Given the description of an element on the screen output the (x, y) to click on. 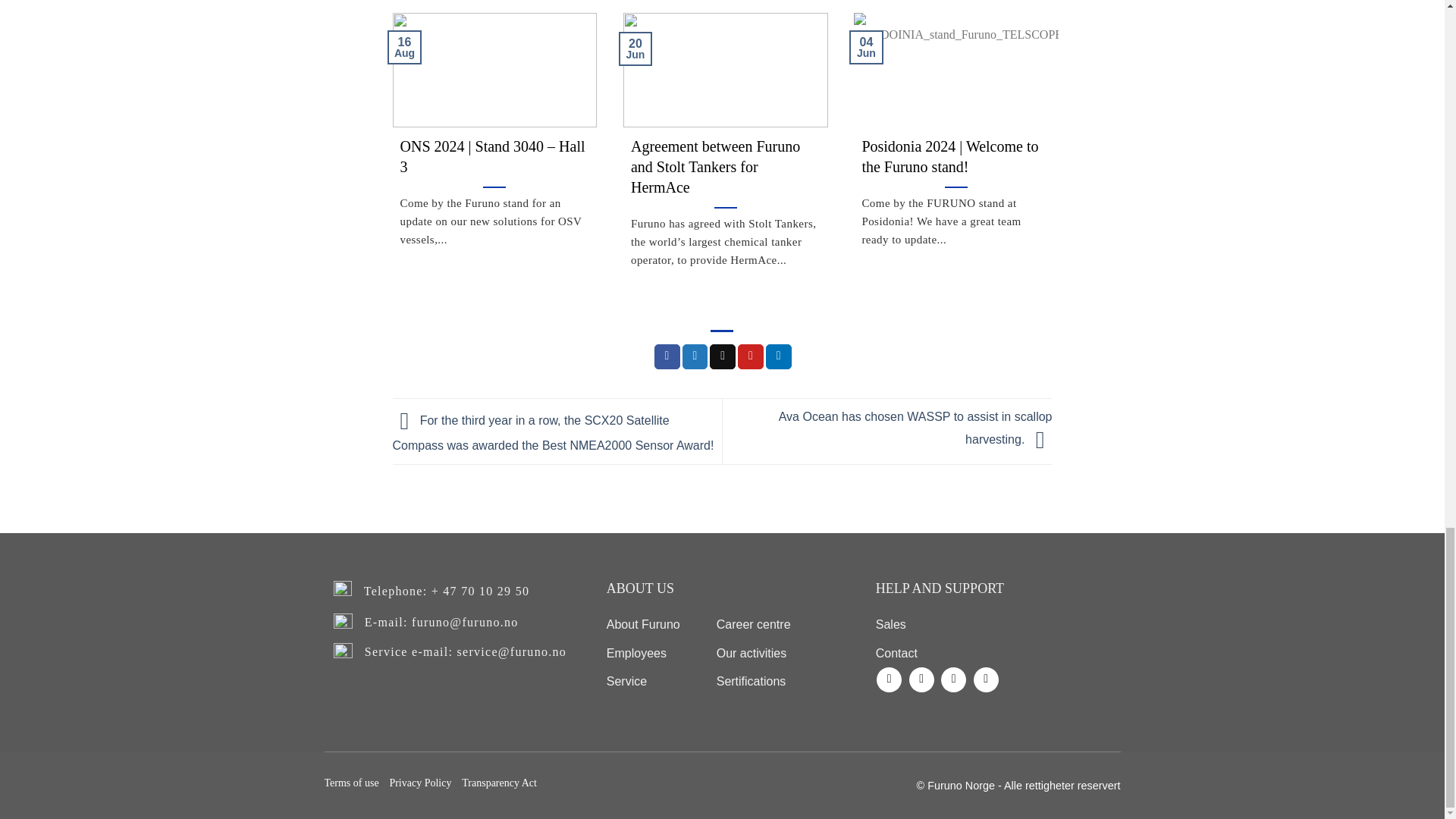
Share on Twitter (694, 356)
Follow on YouTube (986, 679)
Share on LinkedIn (778, 356)
Share on Facebook (666, 356)
Follow on Facebook (888, 679)
Follow on Instagram (921, 679)
Email to a Friend (722, 356)
Follow on LinkedIn (953, 679)
Pin on Pinterest (750, 356)
